Given the description of an element on the screen output the (x, y) to click on. 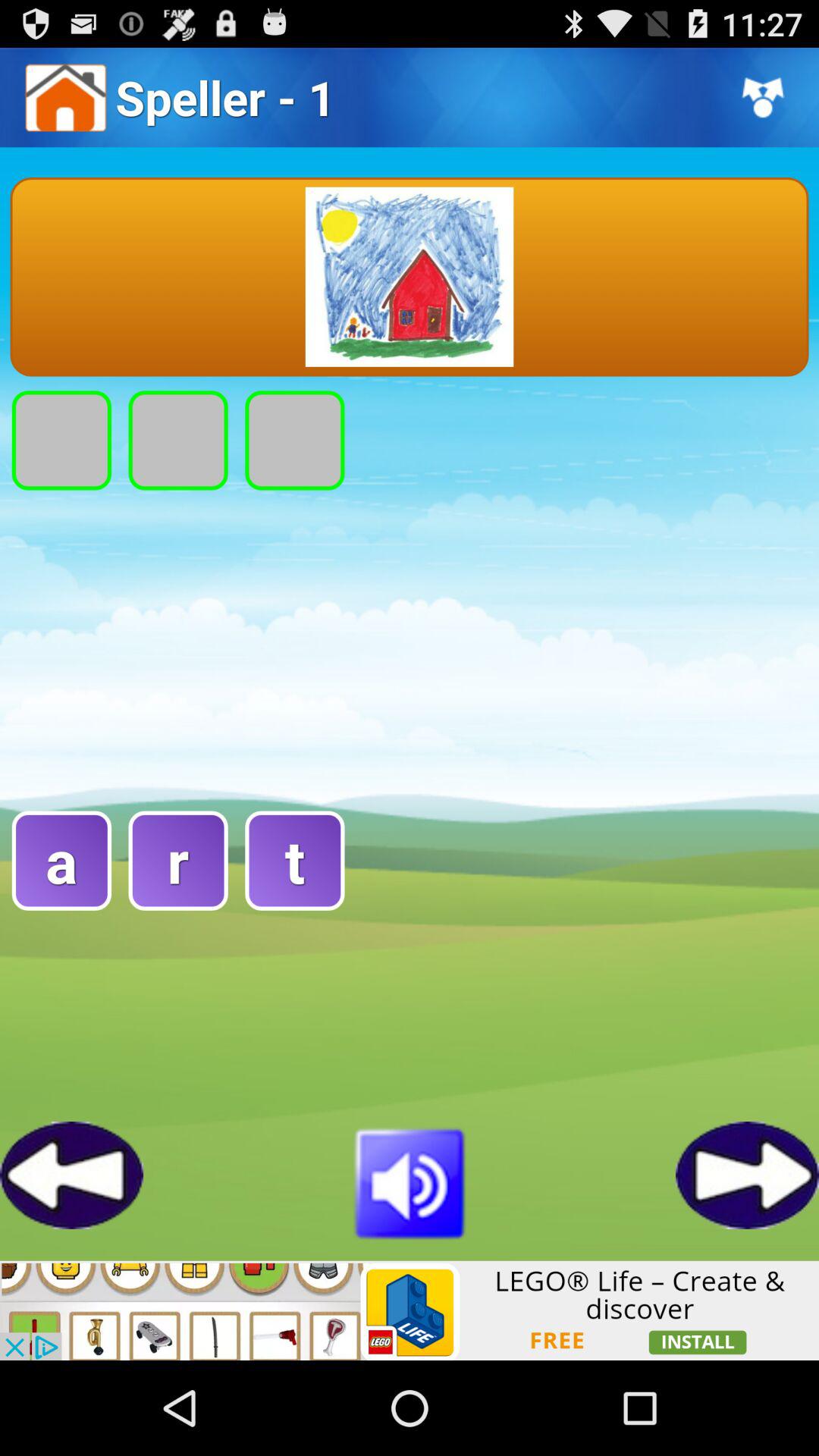
turn music off (409, 1181)
